Given the description of an element on the screen output the (x, y) to click on. 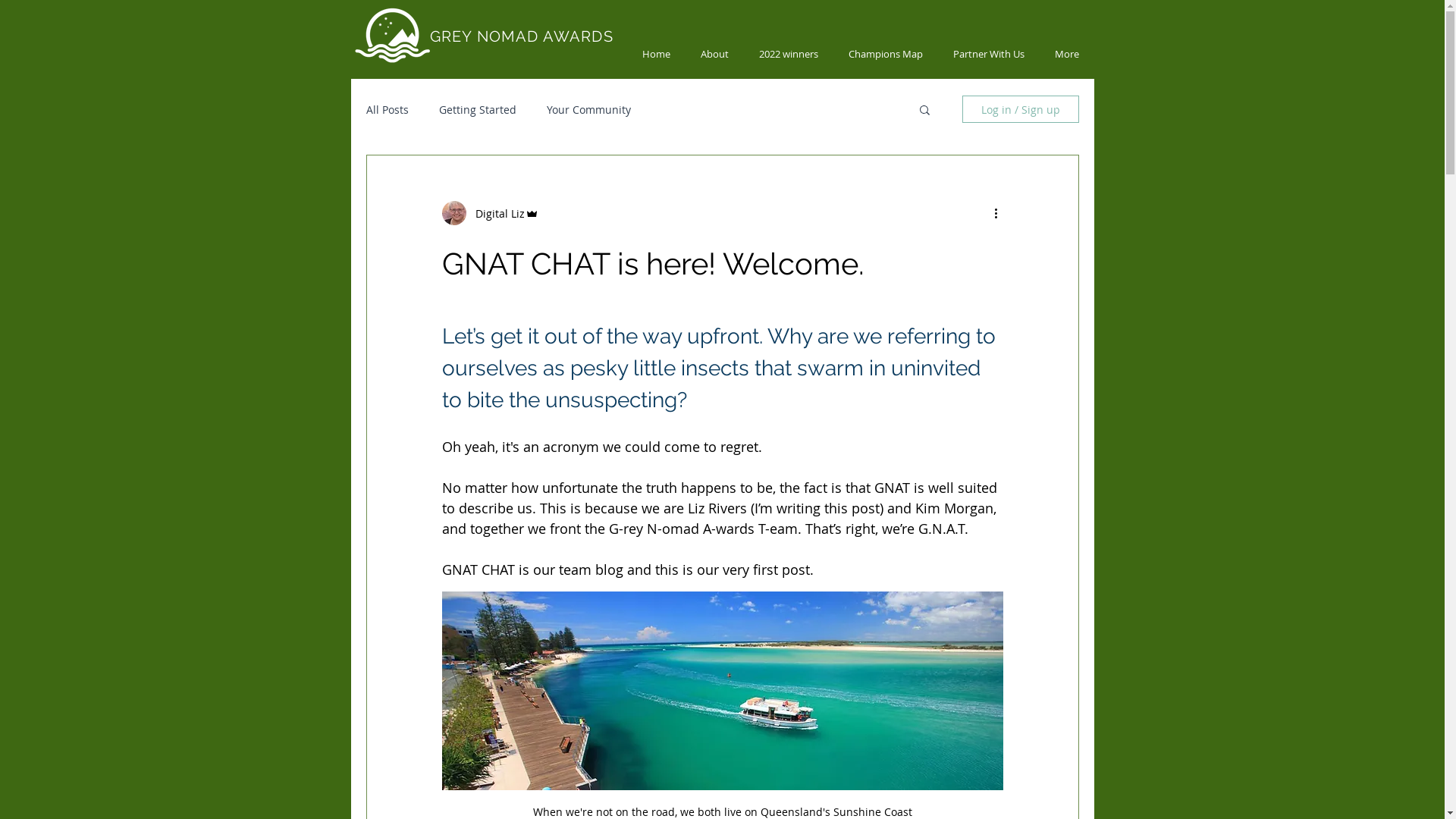
GREY NOMAD AWARDS Element type: text (520, 36)
Log in / Sign up Element type: text (1019, 108)
Your Community Element type: text (588, 108)
About Element type: text (714, 53)
All Posts Element type: text (386, 108)
Champions Map Element type: text (884, 53)
Getting Started Element type: text (476, 108)
Home Element type: text (655, 53)
2022 winners Element type: text (787, 53)
Partner With Us Element type: text (987, 53)
